Given the description of an element on the screen output the (x, y) to click on. 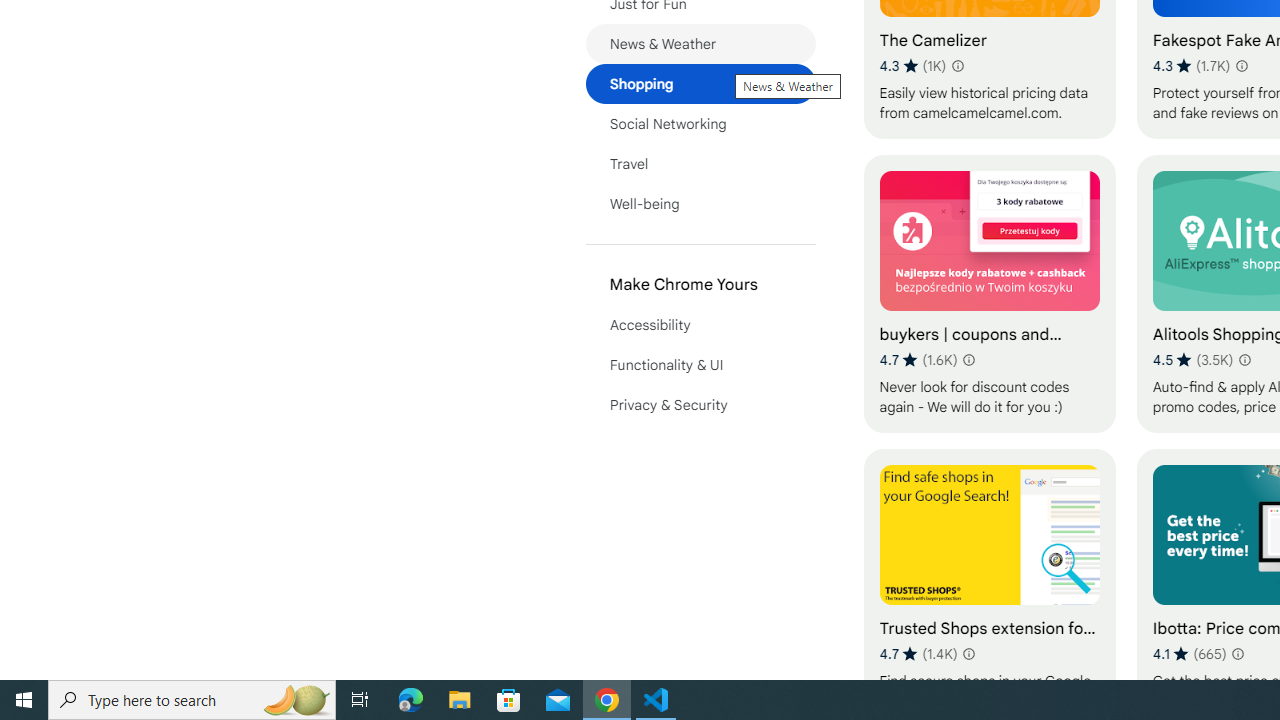
Average rating 4.5 out of 5 stars. 3.5K ratings. (1192, 359)
Average rating 4.3 out of 5 stars. 1.7K ratings. (1191, 66)
Average rating 4.7 out of 5 stars. 1.4K ratings. (918, 653)
Functionality & UI (700, 364)
News & Weather (700, 43)
Learn more about results and reviews "The Camelizer" (957, 65)
Average rating 4.1 out of 5 stars. 665 ratings. (1189, 653)
Well-being (700, 203)
Shopping (selected) (700, 83)
Privacy & Security (700, 404)
Average rating 4.7 out of 5 stars. 1.6K ratings. (918, 359)
Accessibility (700, 324)
Average rating 4.3 out of 5 stars. 1K ratings. (913, 66)
Social Networking (700, 123)
